Given the description of an element on the screen output the (x, y) to click on. 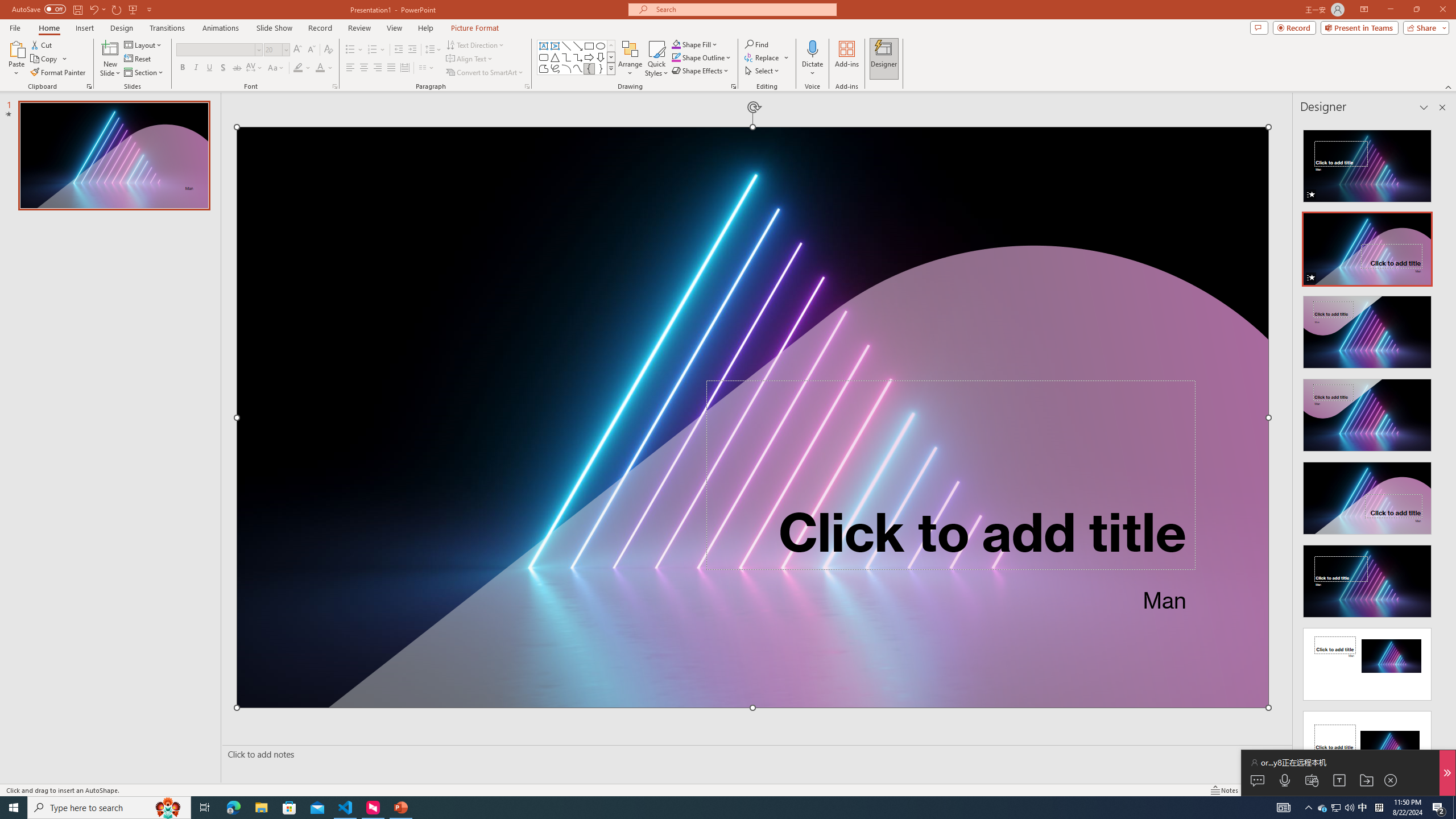
Design Idea with Animation (1366, 245)
